Given the description of an element on the screen output the (x, y) to click on. 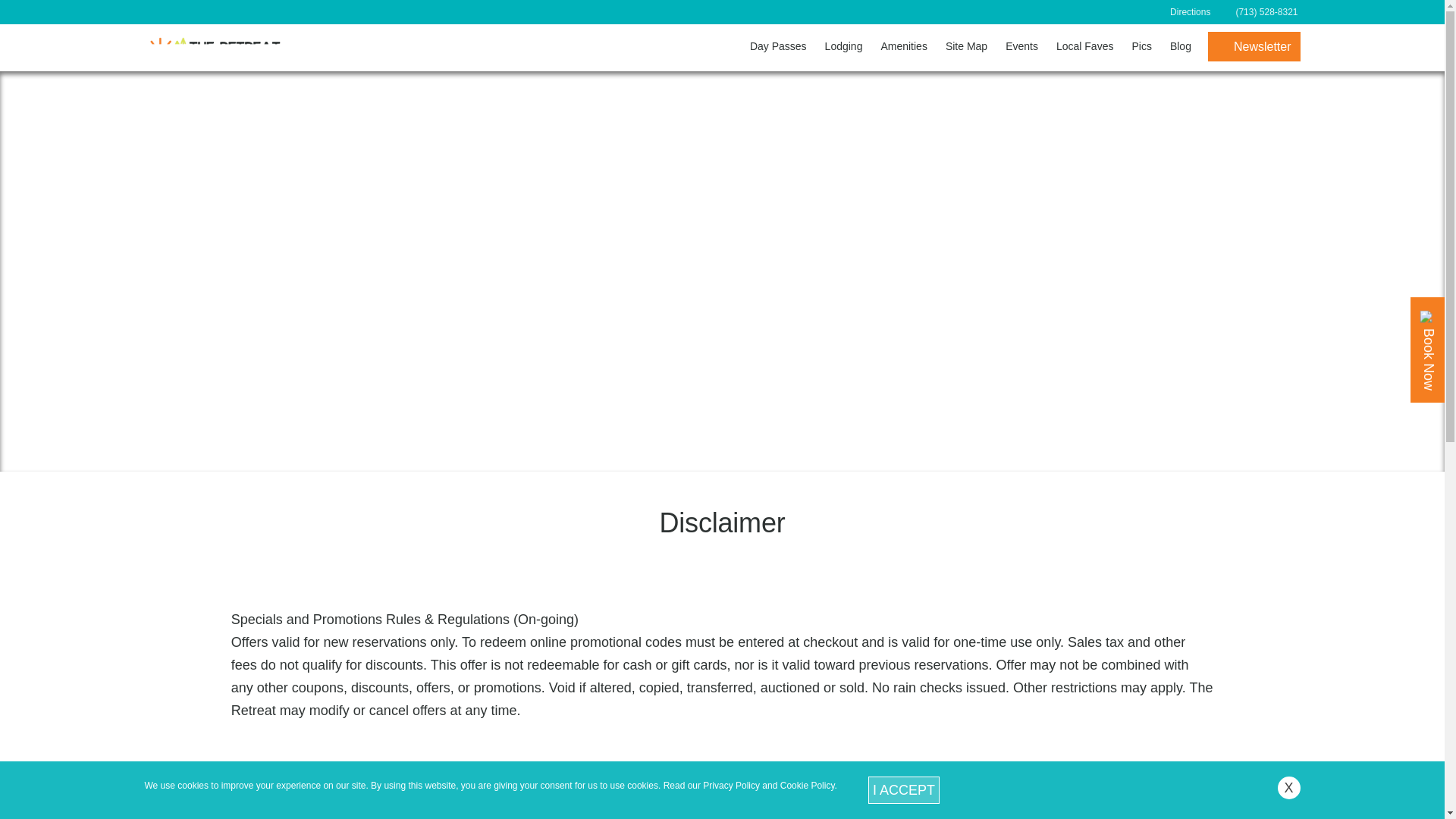
Amenities (903, 46)
Day Passes (778, 46)
Lodging (843, 46)
Blog (1179, 46)
Directions (1189, 11)
Local Faves (1084, 46)
Site Map (965, 46)
Events (1020, 46)
Pics (1141, 46)
Newsletter (1254, 46)
